Given the description of an element on the screen output the (x, y) to click on. 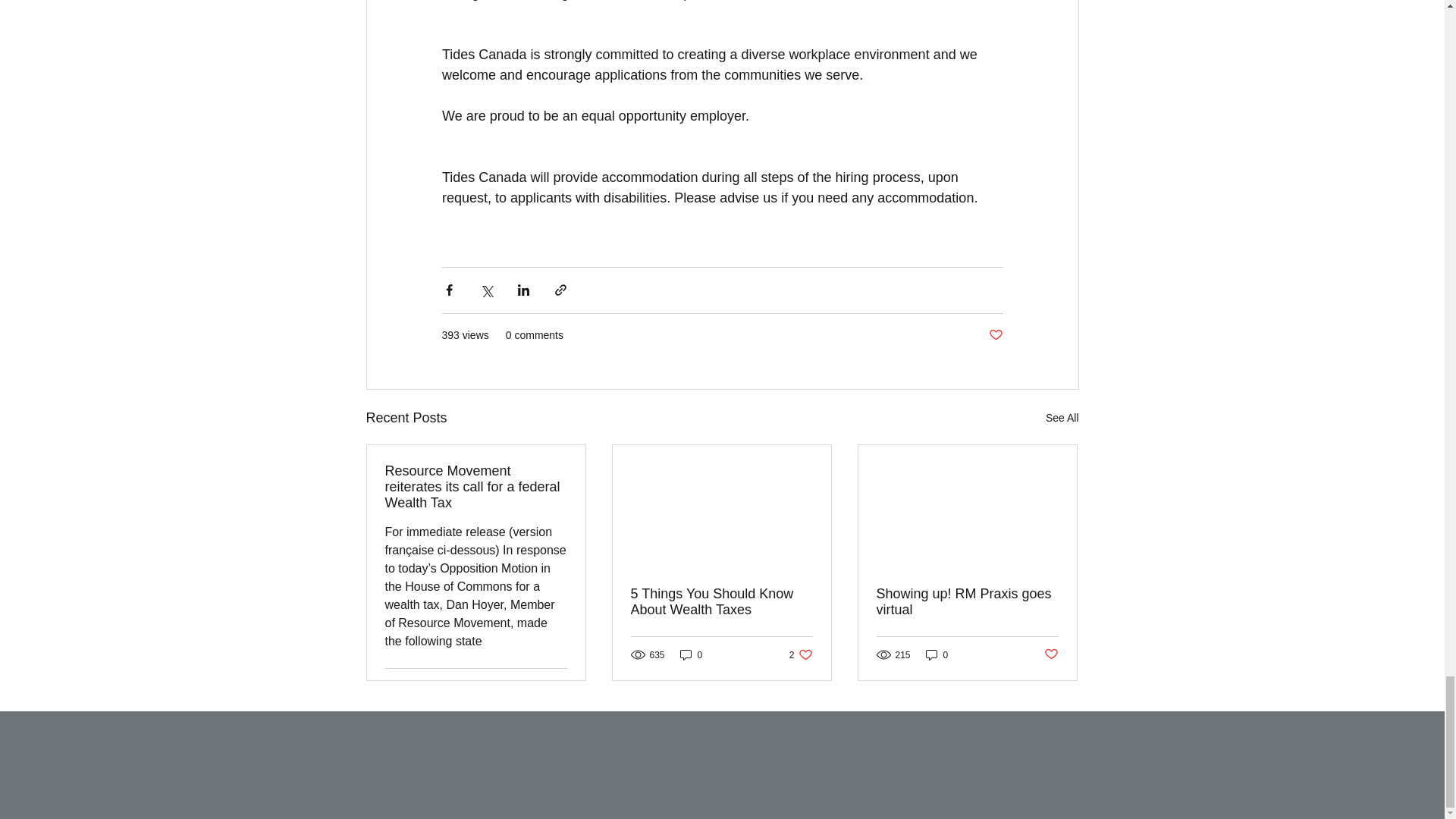
Post not marked as liked (1050, 654)
0 (800, 654)
0 (691, 654)
5 Things You Should Know About Wealth Taxes (937, 654)
Post not marked as liked (721, 602)
1 like. Post not marked as liked (995, 335)
See All (555, 686)
Showing up! RM Praxis goes virtual (1061, 418)
